Given the description of an element on the screen output the (x, y) to click on. 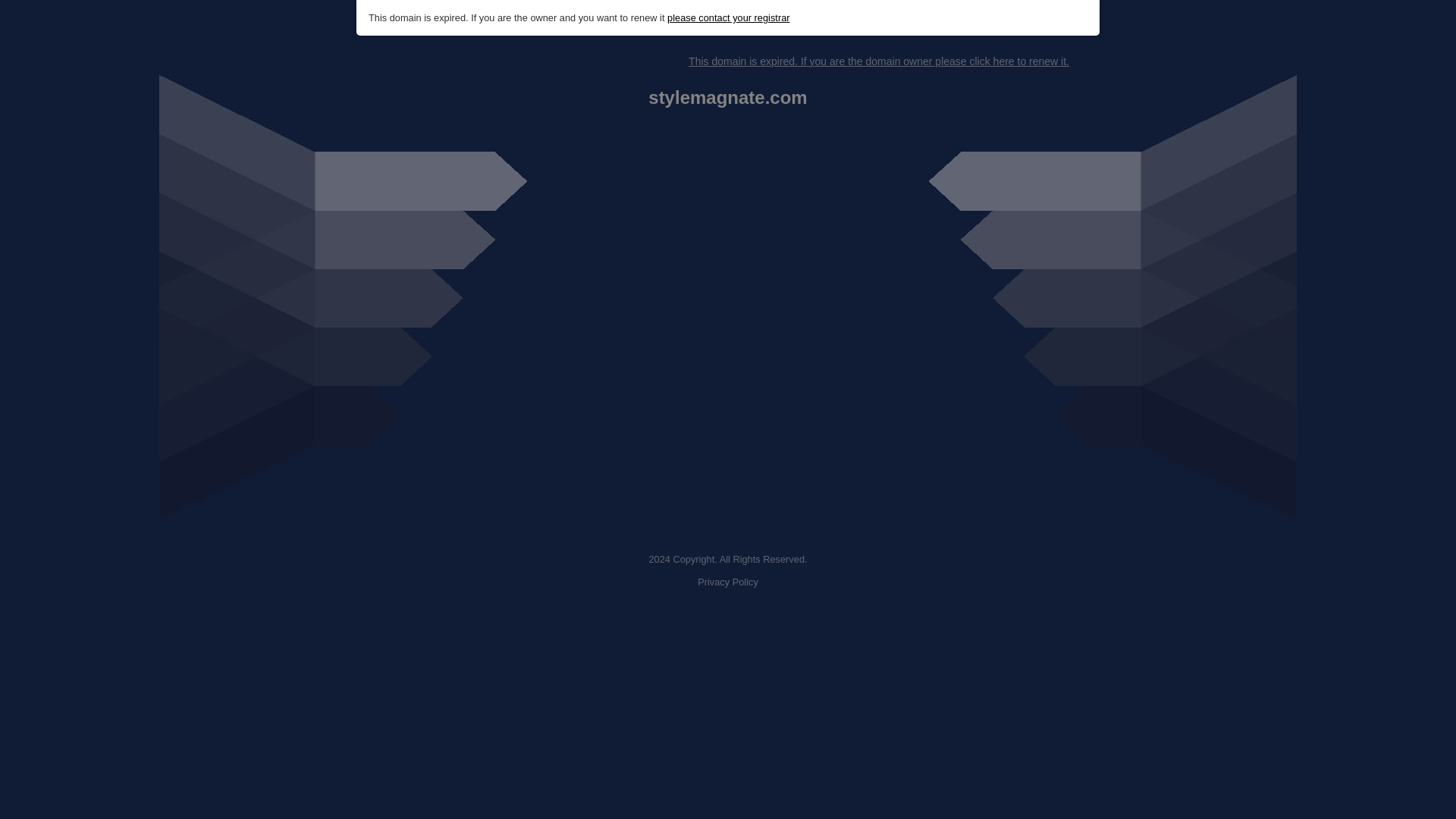
please contact your registrar (727, 17)
Privacy Policy (727, 582)
